Given the description of an element on the screen output the (x, y) to click on. 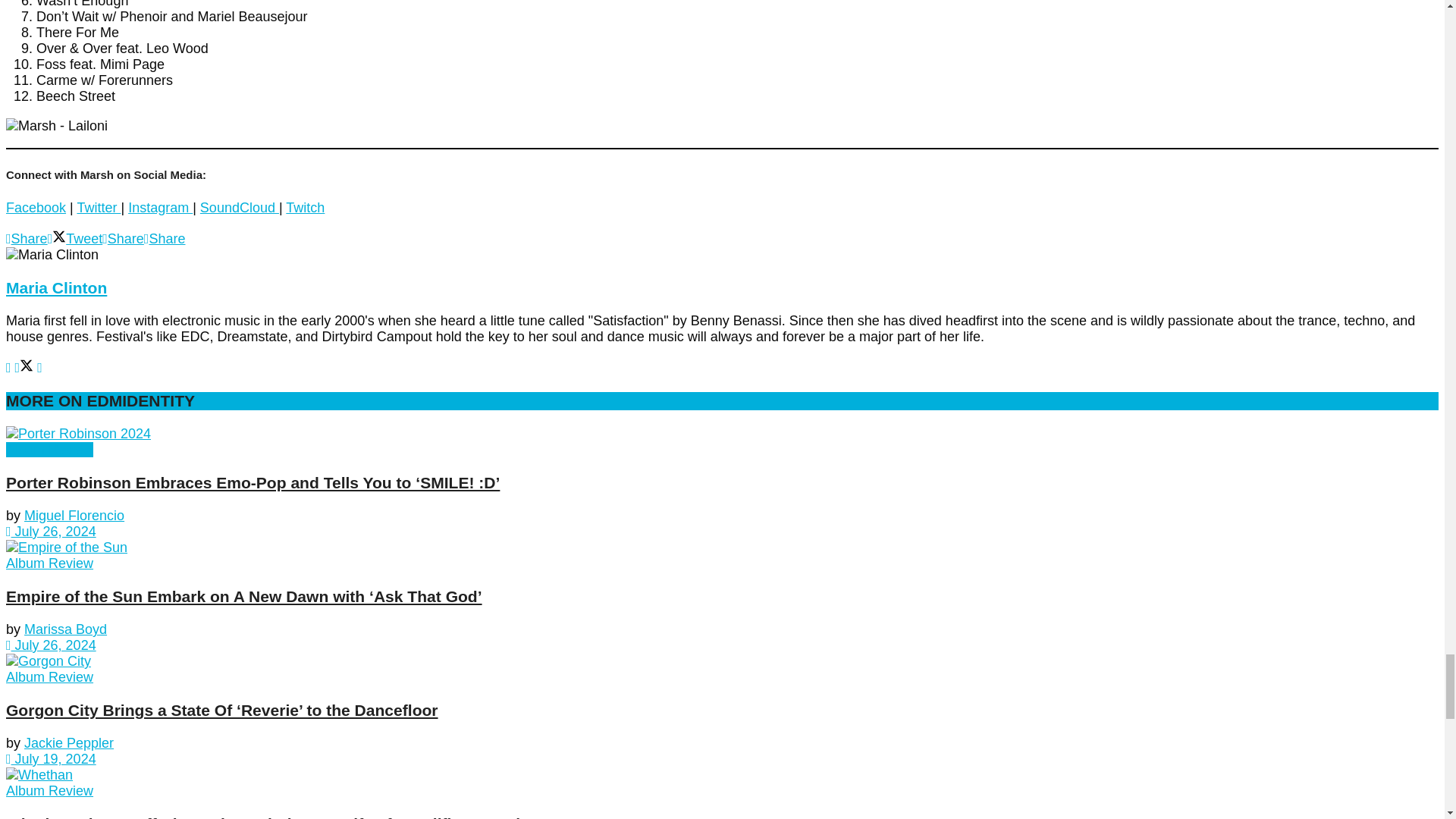
Twitch (304, 207)
Facebook (35, 207)
Share (26, 238)
Instagram  (160, 207)
Tweet (75, 238)
Share (122, 238)
SoundCloud  (239, 207)
Twitter  (98, 207)
